Given the description of an element on the screen output the (x, y) to click on. 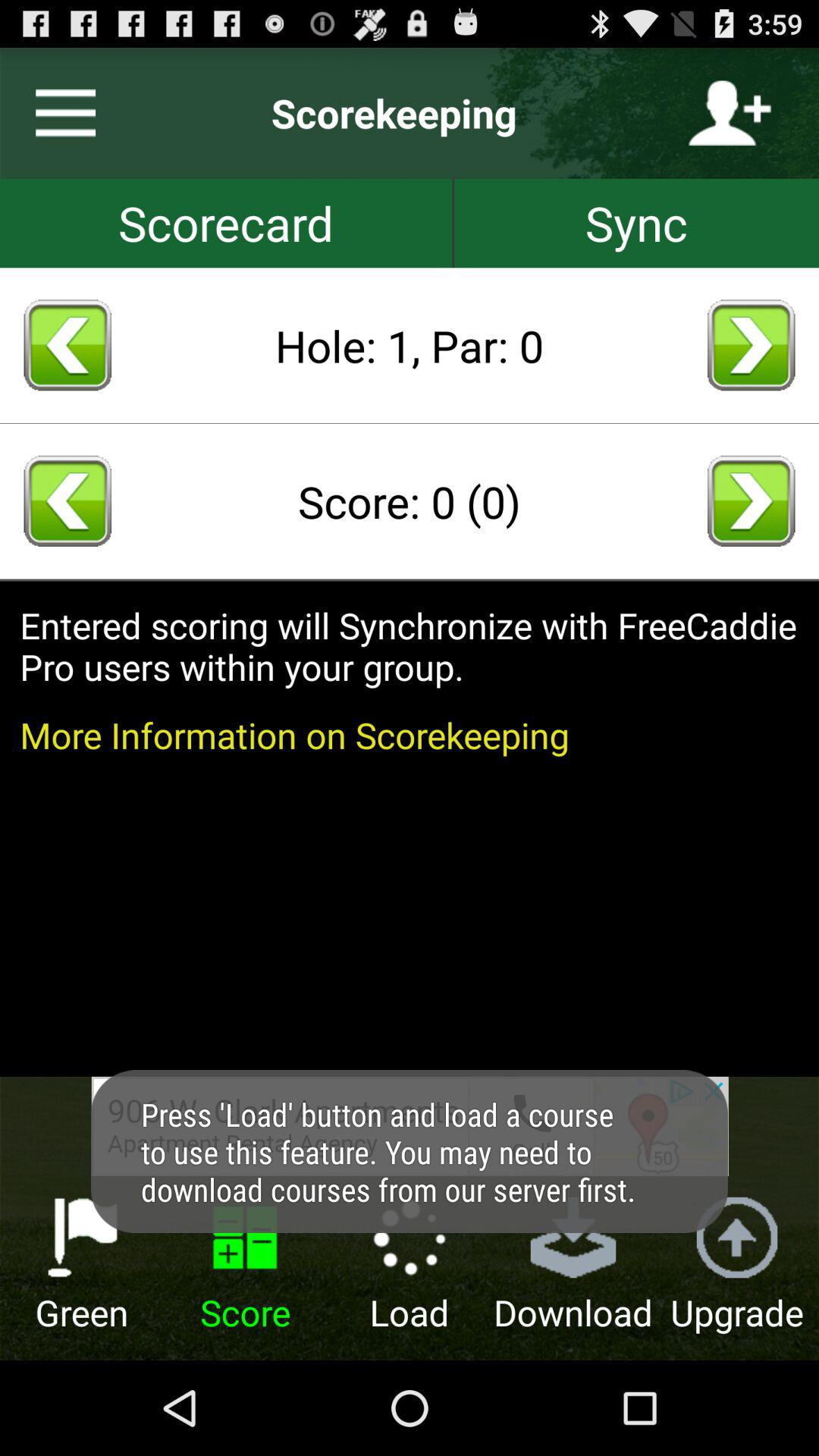
back face (751, 344)
